Given the description of an element on the screen output the (x, y) to click on. 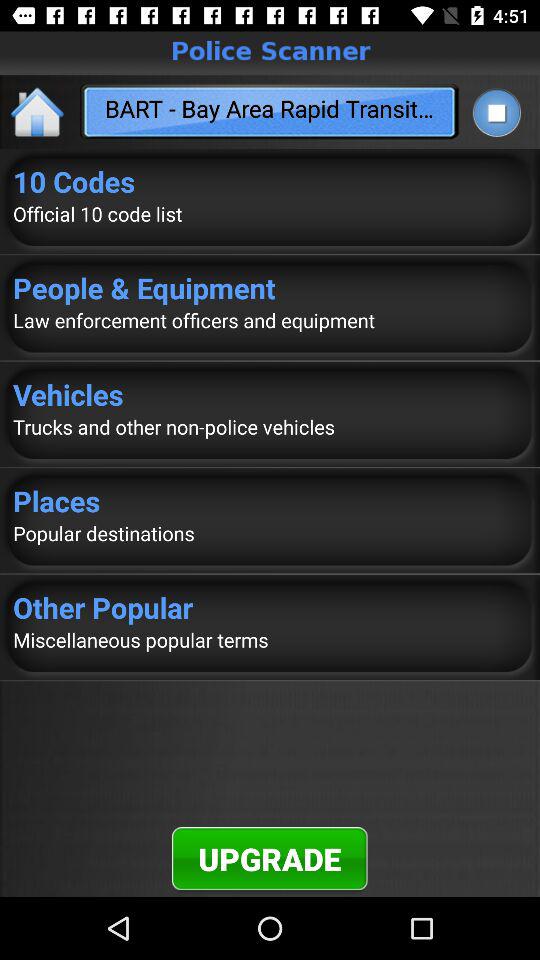
choose icon below places item (269, 533)
